Given the description of an element on the screen output the (x, y) to click on. 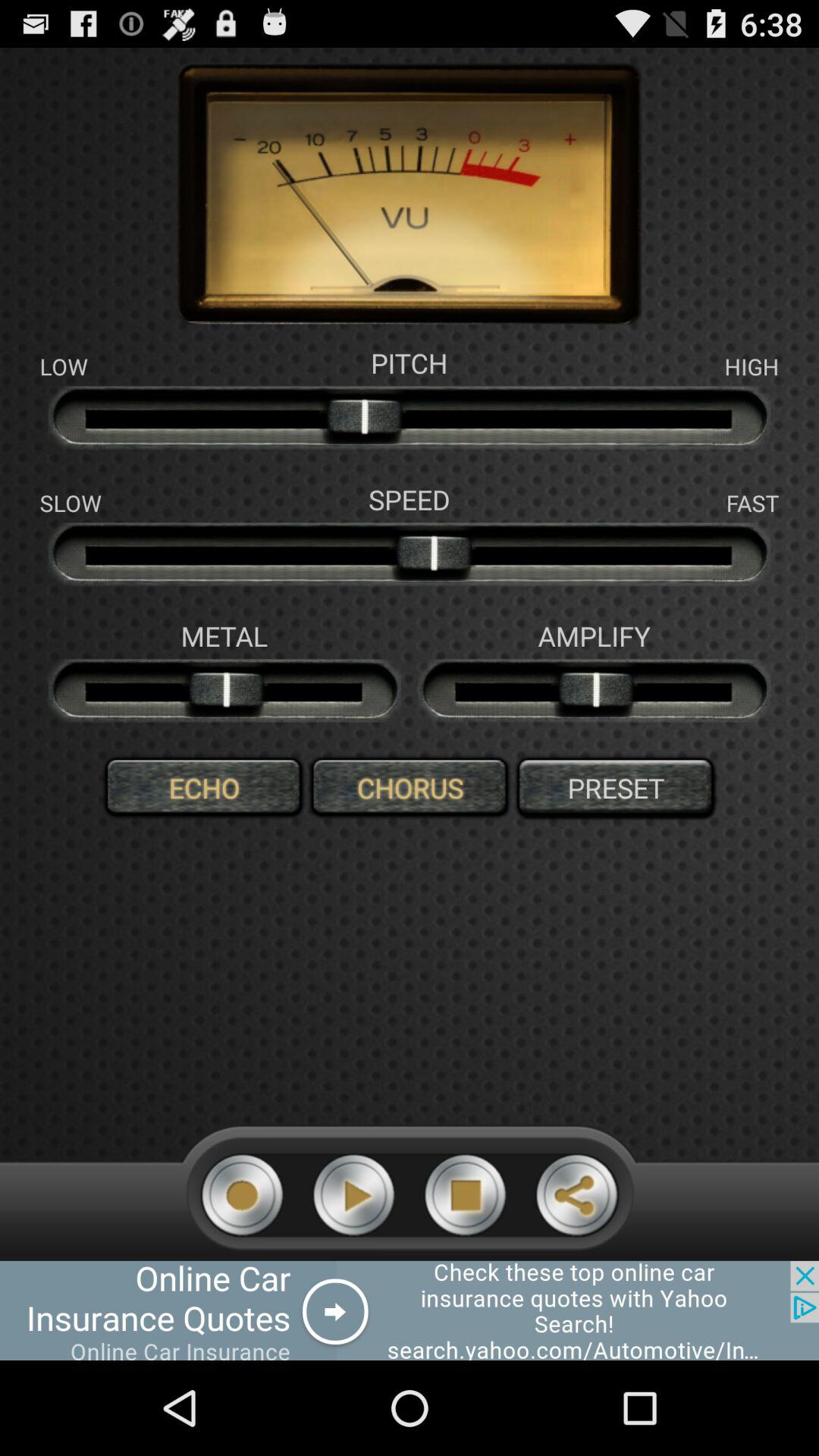
play (353, 1195)
